Given the description of an element on the screen output the (x, y) to click on. 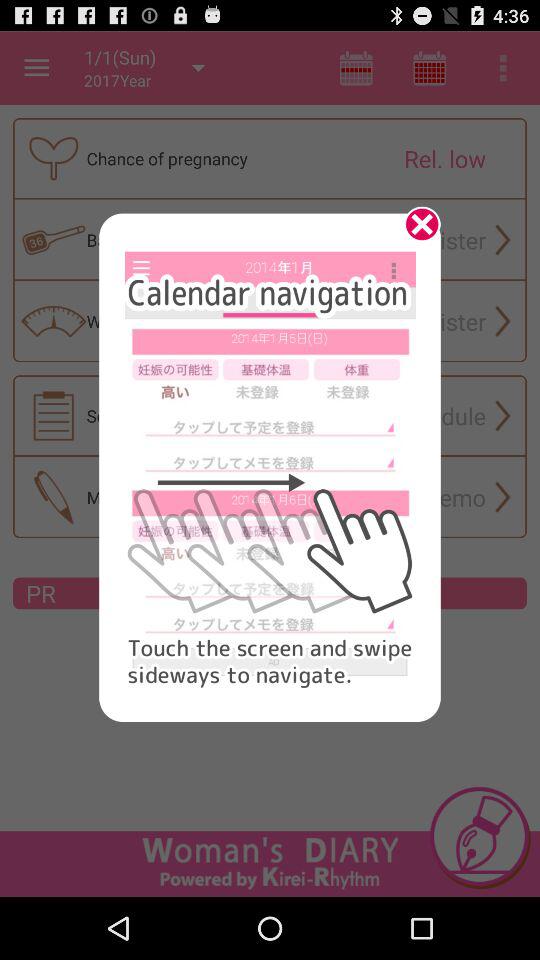
click the x mark to close (415, 231)
